Given the description of an element on the screen output the (x, y) to click on. 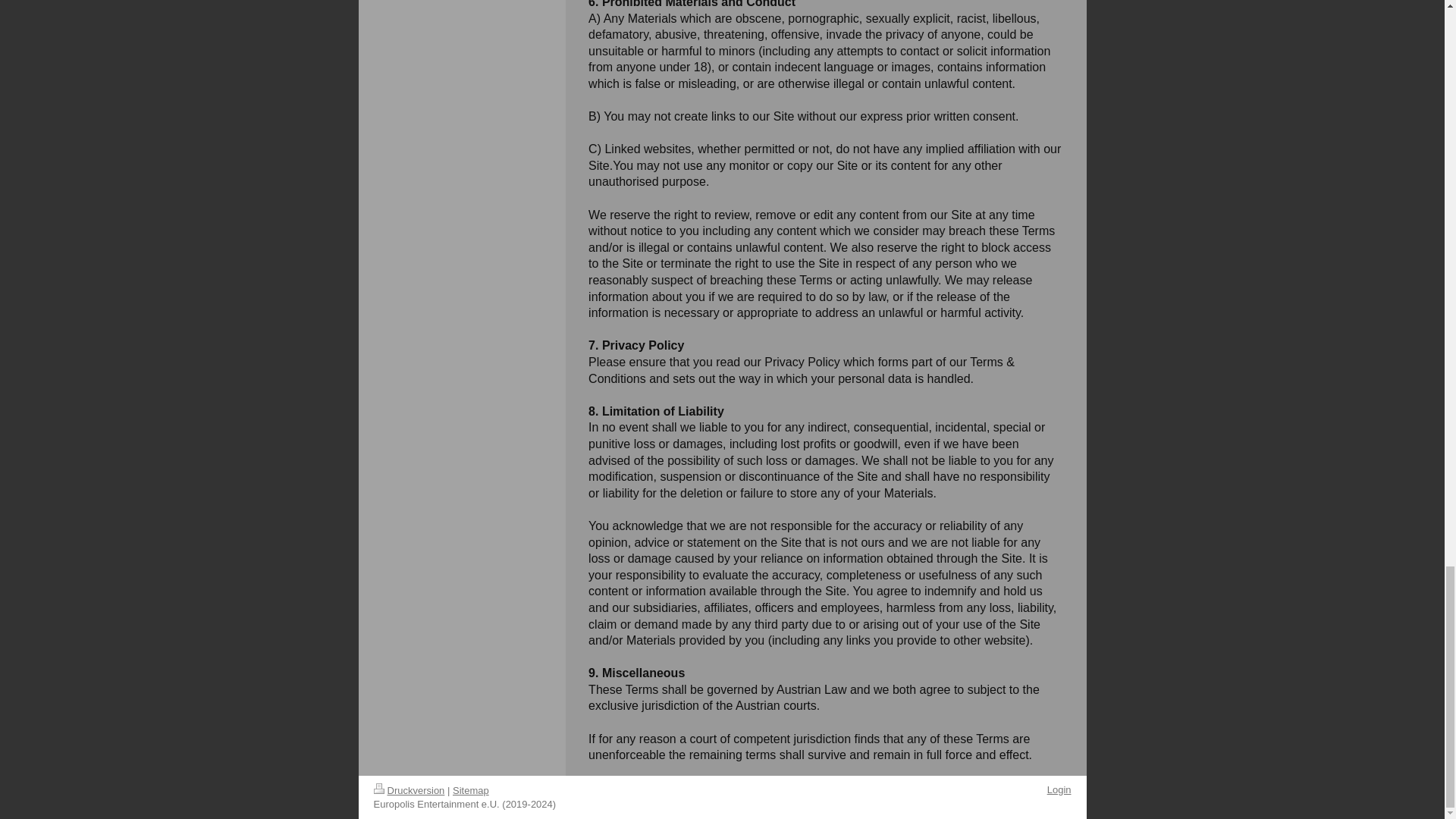
Druckversion (408, 790)
Login (1058, 789)
Sitemap (470, 790)
